Given the description of an element on the screen output the (x, y) to click on. 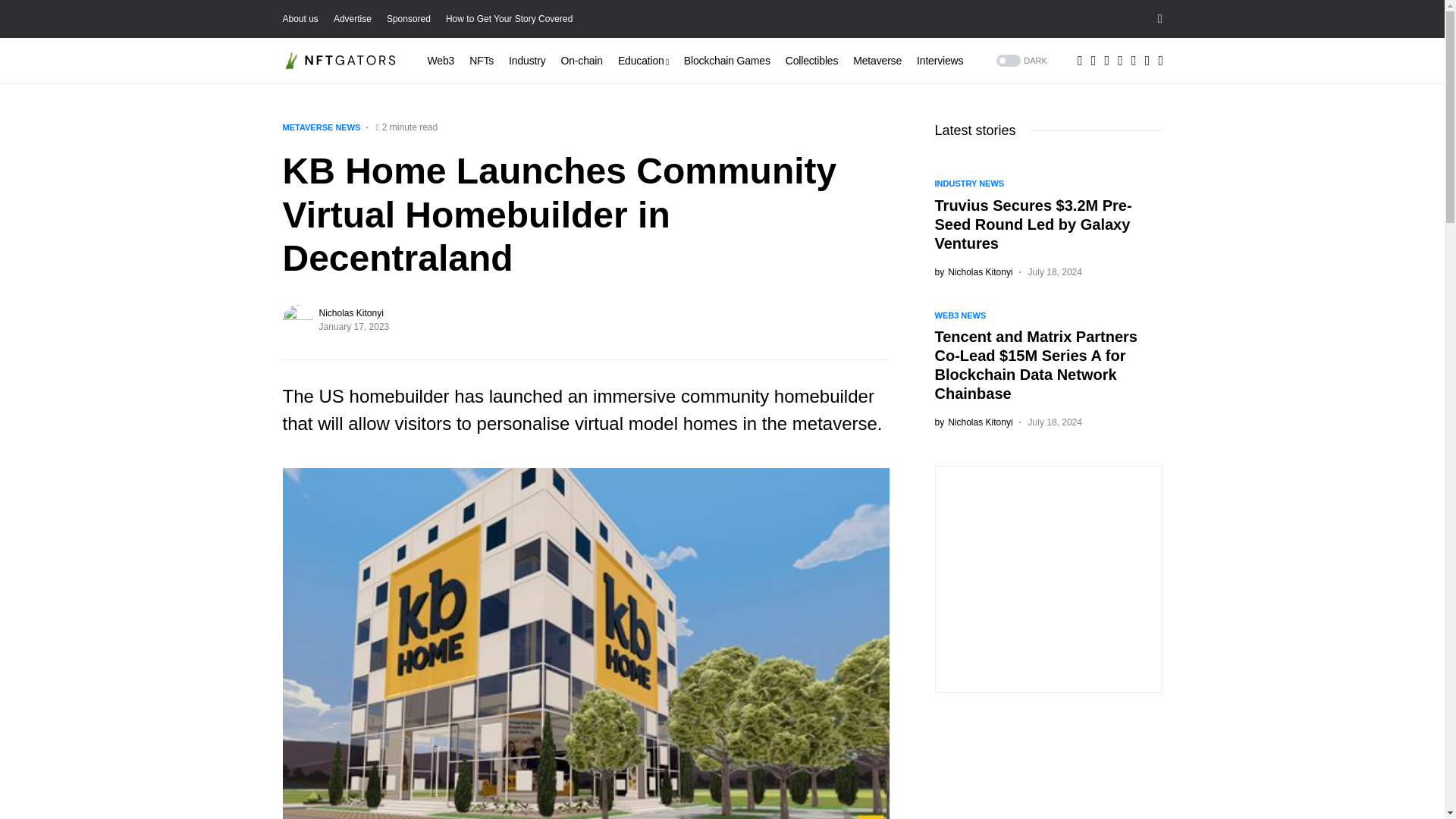
On-chain (581, 60)
About us (299, 18)
How to Get Your Story Covered (508, 18)
View all posts by Nicholas Kitonyi (972, 422)
Metaverse (877, 60)
Interviews (939, 60)
Education (642, 60)
Advertise (352, 18)
Blockchain Games (727, 60)
View all posts by Nicholas Kitonyi (972, 272)
Sponsored (408, 18)
Collectibles (812, 60)
